Given the description of an element on the screen output the (x, y) to click on. 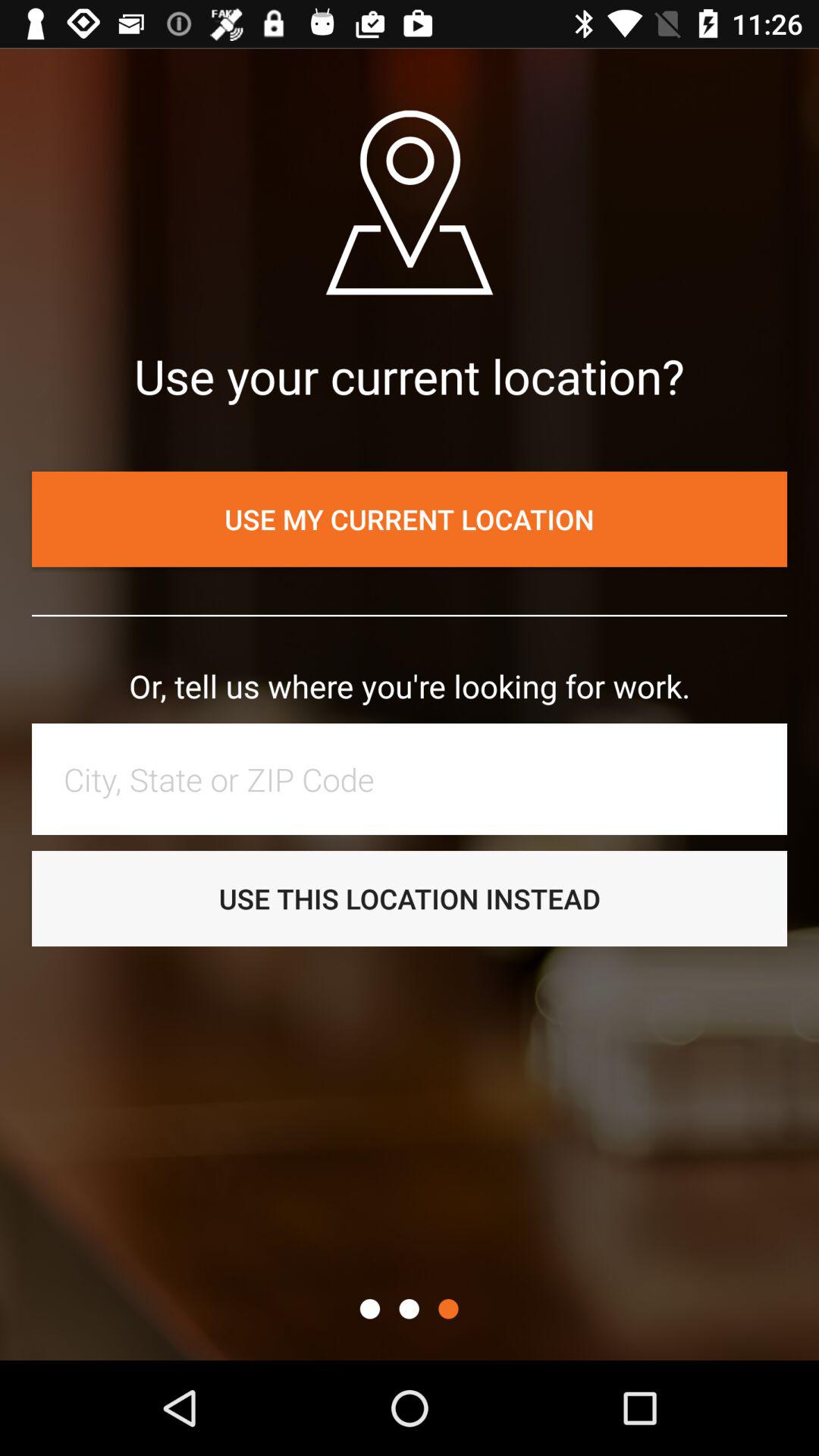
go to this page (369, 1308)
